Given the description of an element on the screen output the (x, y) to click on. 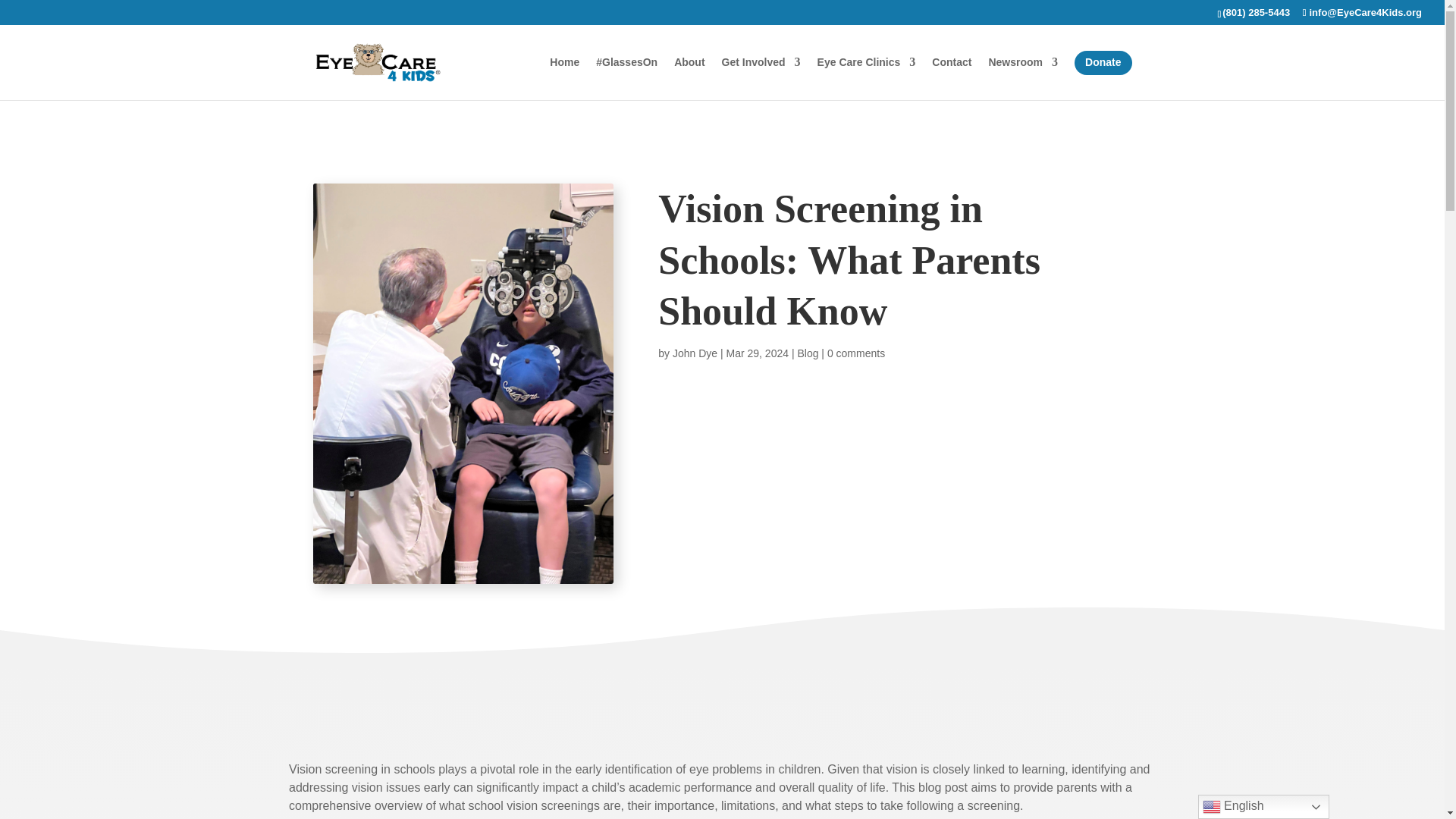
Donate (1102, 74)
0 comments (856, 353)
John Dye (694, 353)
Eye Care Clinics (865, 74)
Get Involved (761, 74)
Contact (951, 74)
Posts by John Dye (694, 353)
Newsroom (1023, 74)
Blog (807, 353)
